Given the description of an element on the screen output the (x, y) to click on. 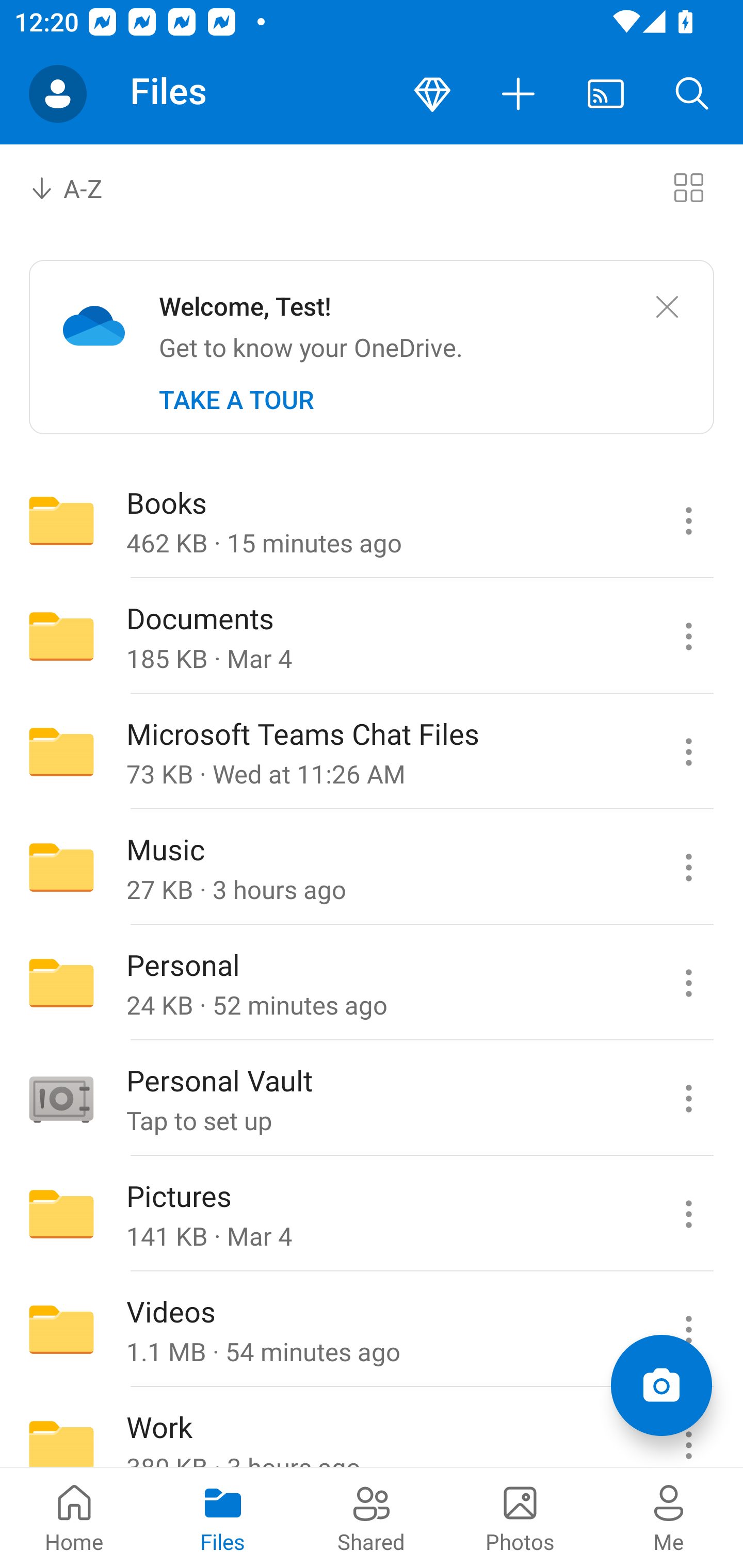
Account switcher (57, 93)
Cast. Disconnected (605, 93)
Premium button (432, 93)
More actions button (518, 93)
Search button (692, 93)
A-Z Sort by combo box, sort by name, A to Z (80, 187)
Switch to tiles view (688, 187)
Close (667, 307)
TAKE A TOUR (236, 399)
Books commands (688, 520)
Folder Documents 185 KB · Mar 4 Documents commands (371, 636)
Documents commands (688, 636)
Microsoft Teams Chat Files commands (688, 751)
Folder Music 27 KB · 3 hours ago Music commands (371, 867)
Music commands (688, 867)
Personal commands (688, 983)
Personal Vault commands (688, 1099)
Folder Pictures 141 KB · Mar 4 Pictures commands (371, 1214)
Pictures commands (688, 1214)
Videos commands (688, 1329)
Add items Scan (660, 1385)
Folder Work 380 KB · 3 hours ago Work commands (371, 1427)
Work commands (688, 1427)
Home pivot Home (74, 1517)
Shared pivot Shared (371, 1517)
Photos pivot Photos (519, 1517)
Me pivot Me (668, 1517)
